Given the description of an element on the screen output the (x, y) to click on. 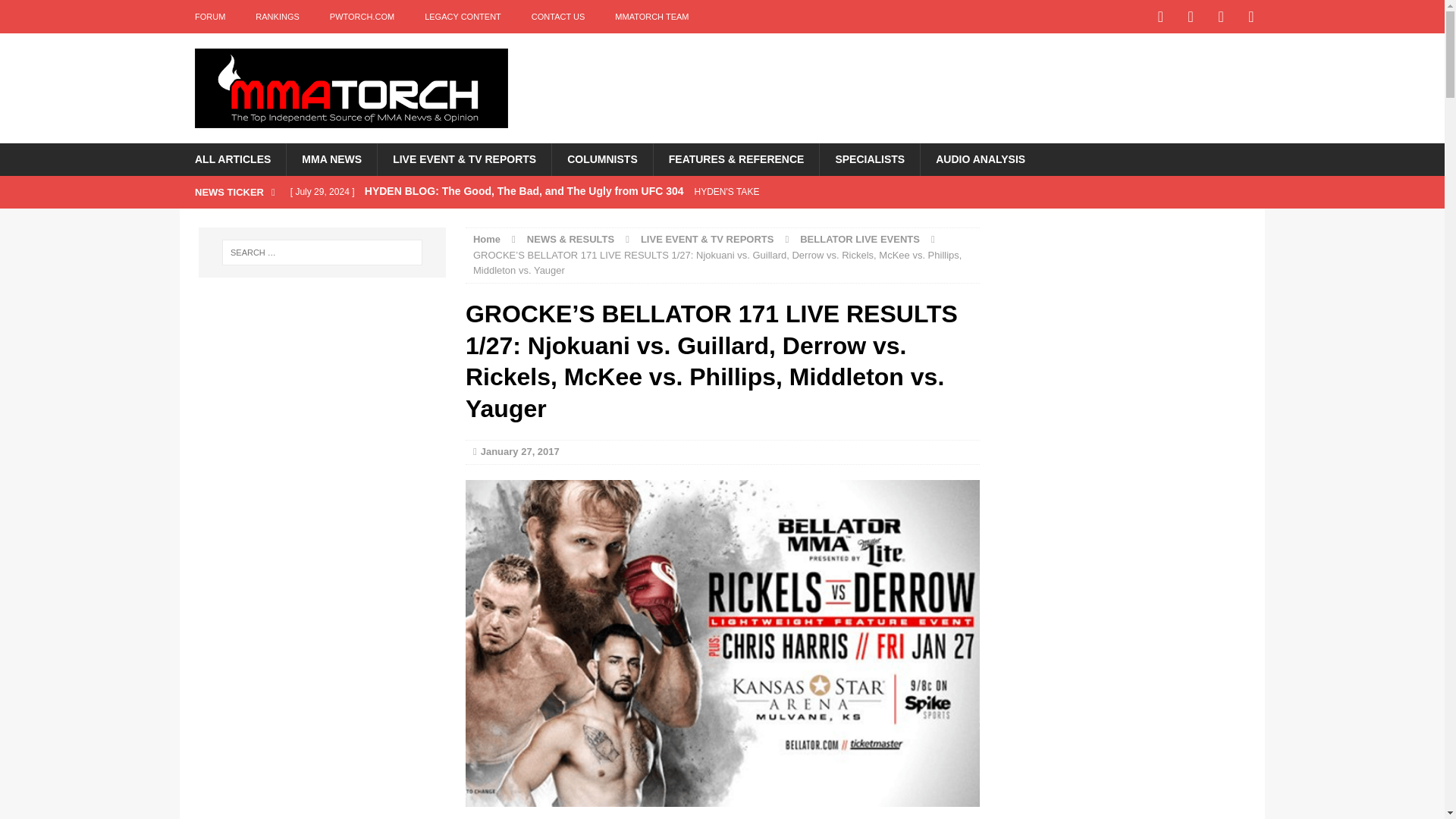
MMATORCH TEAM (651, 16)
LEGACY CONTENT (462, 16)
FORUM (209, 16)
CONTACT US (557, 16)
ALL ARTICLES (232, 159)
PWTORCH.COM (361, 16)
RANKINGS (277, 16)
COLUMNISTS (601, 159)
HYDEN BLOG: The Good, The Bad, and The Ugly from UFC 304 (582, 192)
MMATorch (350, 88)
MMA NEWS (331, 159)
